Given the description of an element on the screen output the (x, y) to click on. 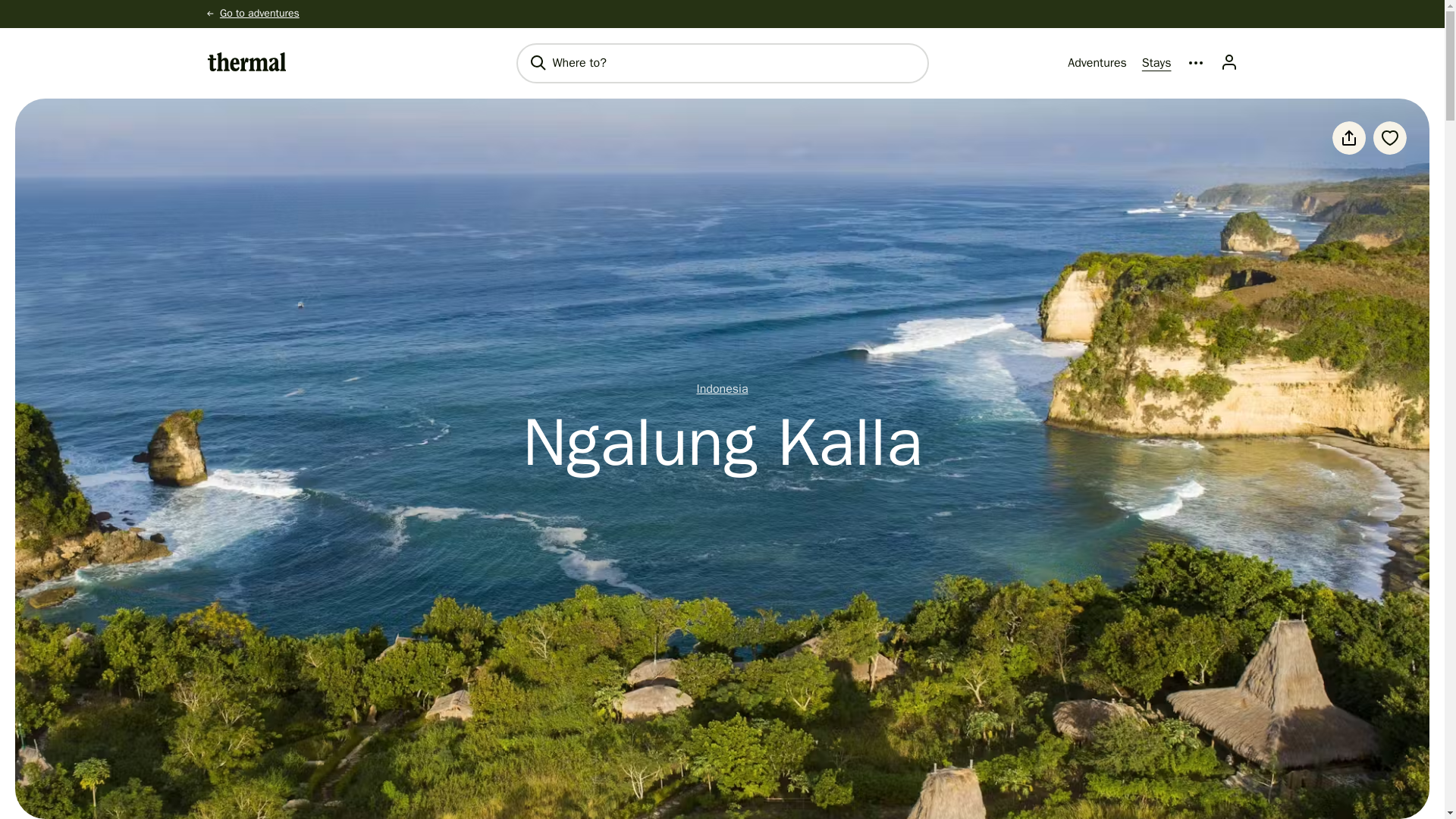
Adventures (1096, 63)
Indonesia (721, 388)
Go to adventures (259, 12)
Stays (1156, 63)
